Given the description of an element on the screen output the (x, y) to click on. 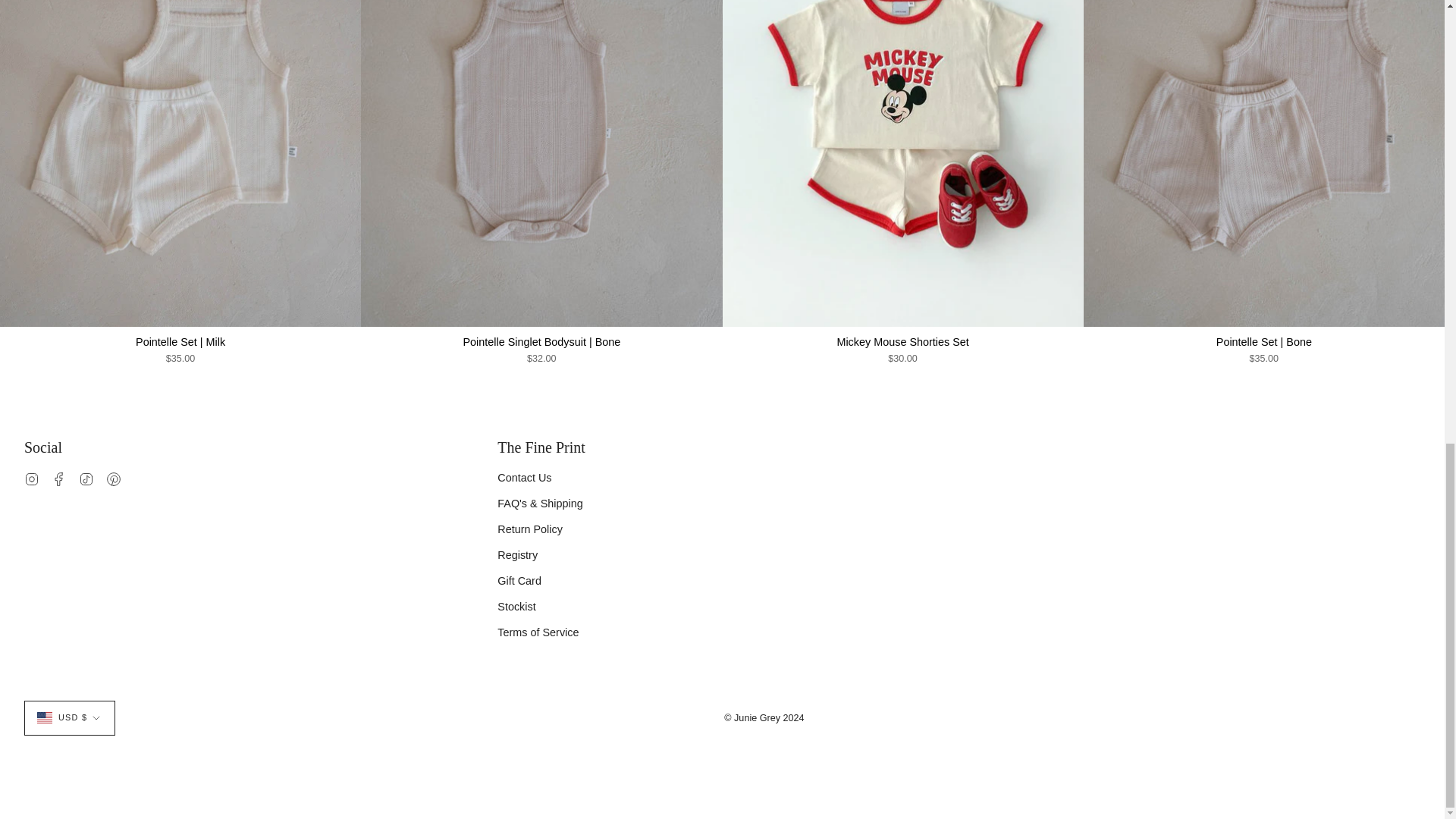
Junie Grey on Facebook (58, 478)
Junie Grey on Pinterest (113, 478)
Junie Grey on TikTok (86, 478)
Junie Grey on Instagram (31, 478)
